Given the description of an element on the screen output the (x, y) to click on. 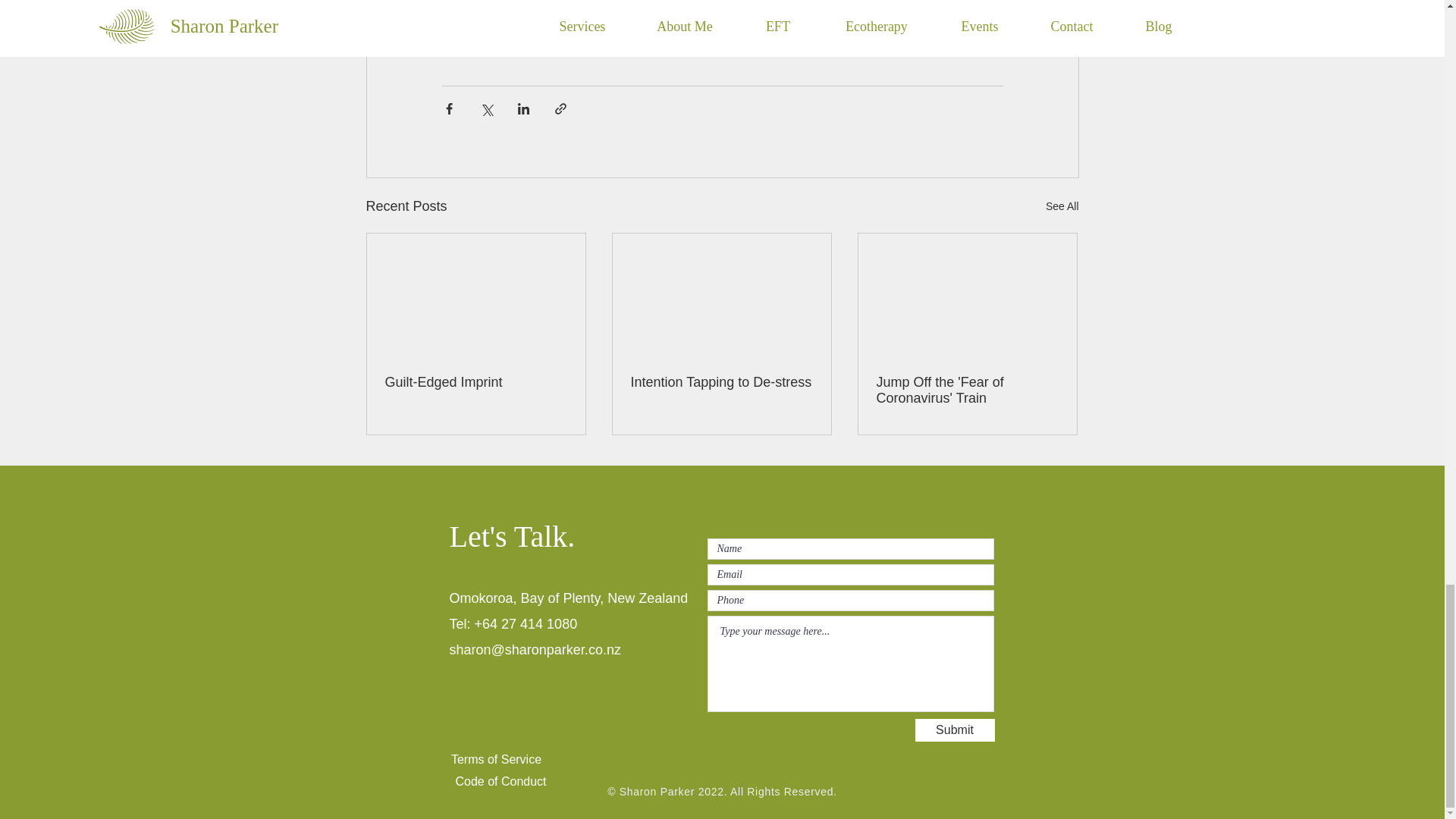
Guilt-Edged Imprint (476, 382)
See All (1061, 206)
Jump Off the 'Fear of Coronavirus' Train (967, 390)
Intention Tapping to De-stress (721, 382)
